Given the description of an element on the screen output the (x, y) to click on. 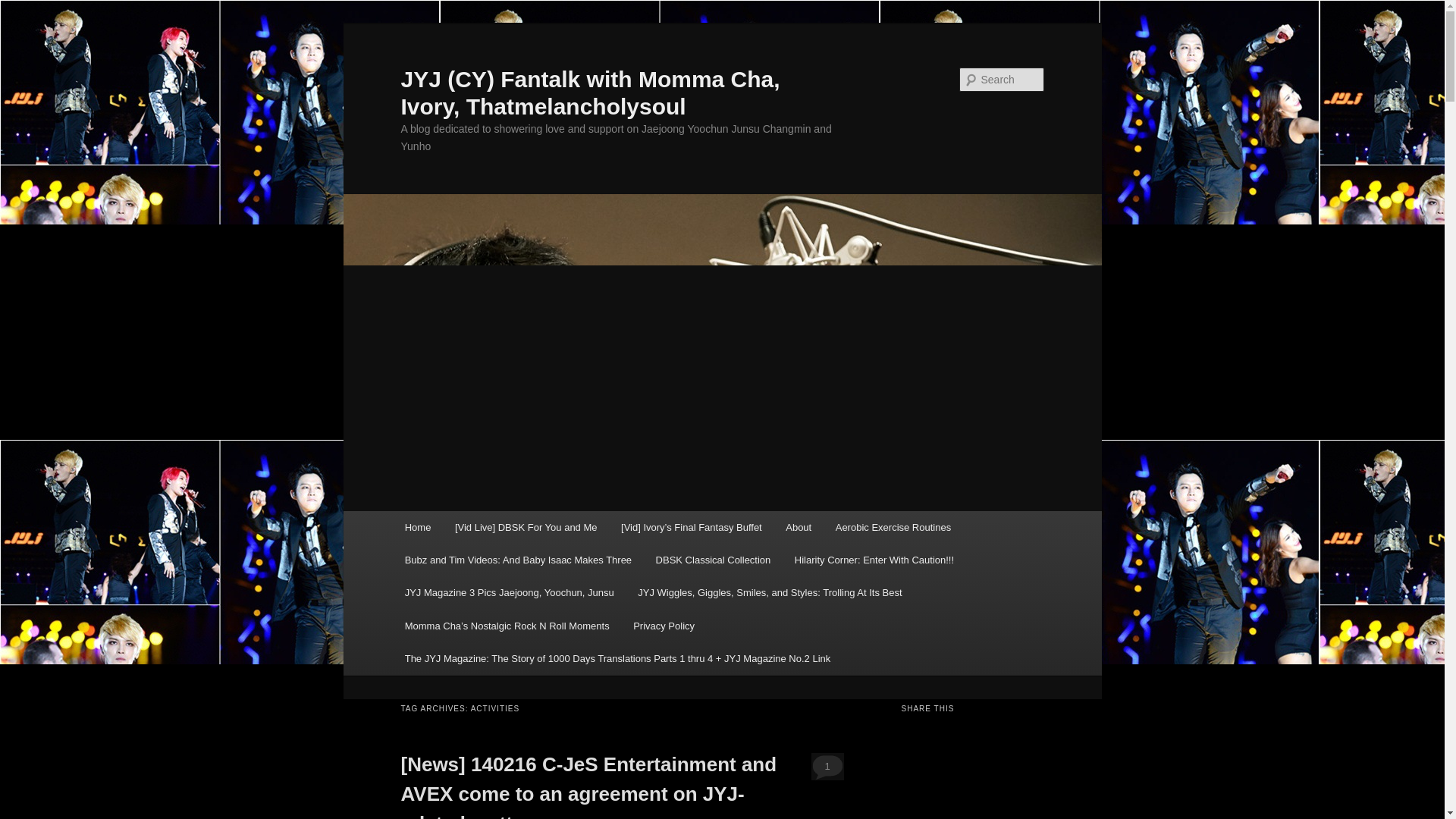
DBSK Classical Collection (713, 559)
Bubz and Tim Videos: And Baby Isaac Makes Three (518, 559)
Home (417, 527)
JYJ Magazine 3 Pics Jaejoong, Yoochun, Junsu (509, 592)
1 (827, 766)
Hilarity Corner: Enter With Caution!!! (874, 559)
Search (24, 8)
Aerobic Exercise Routines (893, 527)
Privacy Policy (663, 625)
About (797, 527)
